Given the description of an element on the screen output the (x, y) to click on. 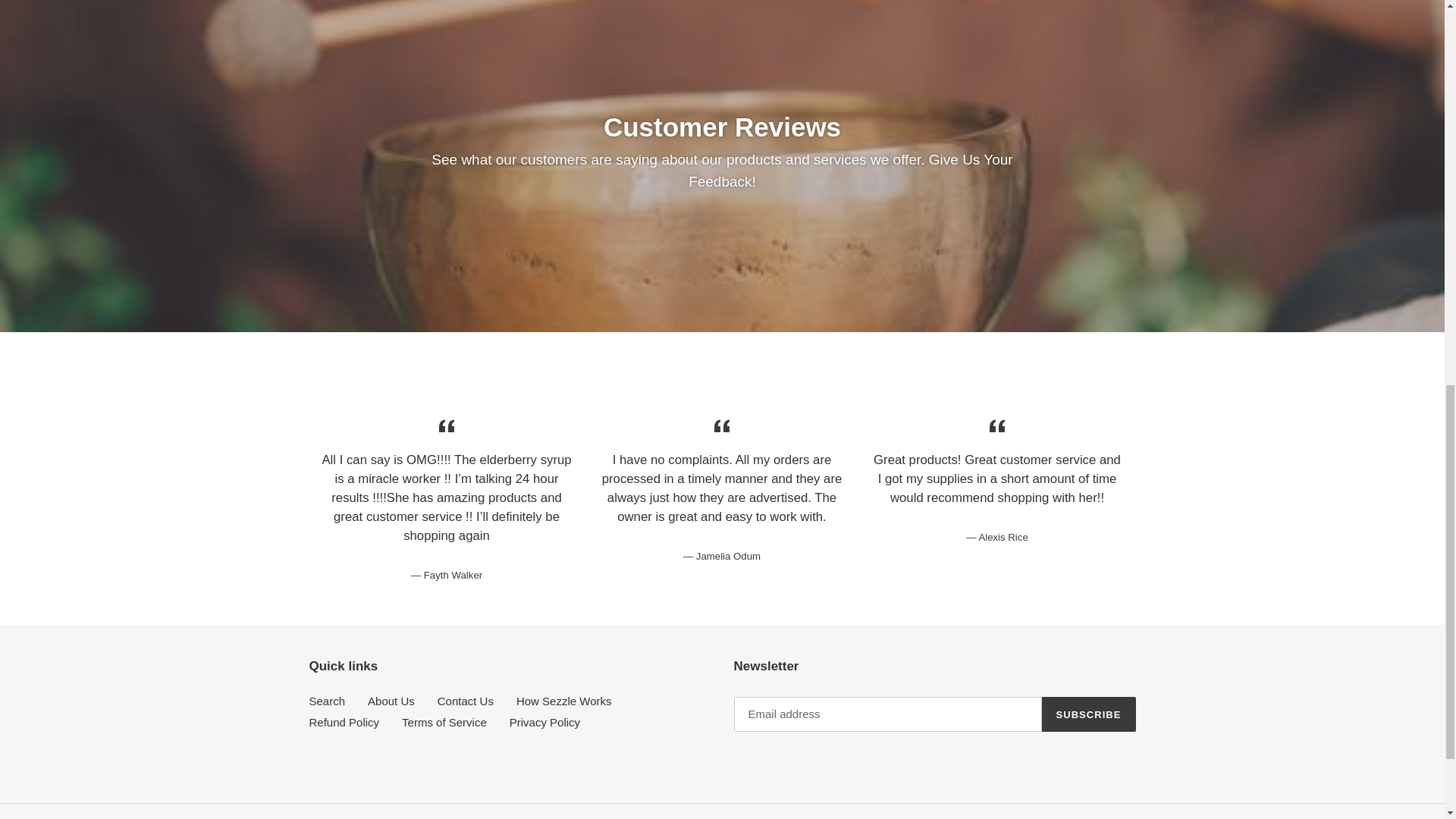
Contact Us (465, 700)
Refund Policy (344, 721)
About Us (391, 700)
Search (327, 700)
Privacy Policy (544, 721)
SUBSCRIBE (1088, 714)
How Sezzle Works (563, 700)
Terms of Service (443, 721)
